Given the description of an element on the screen output the (x, y) to click on. 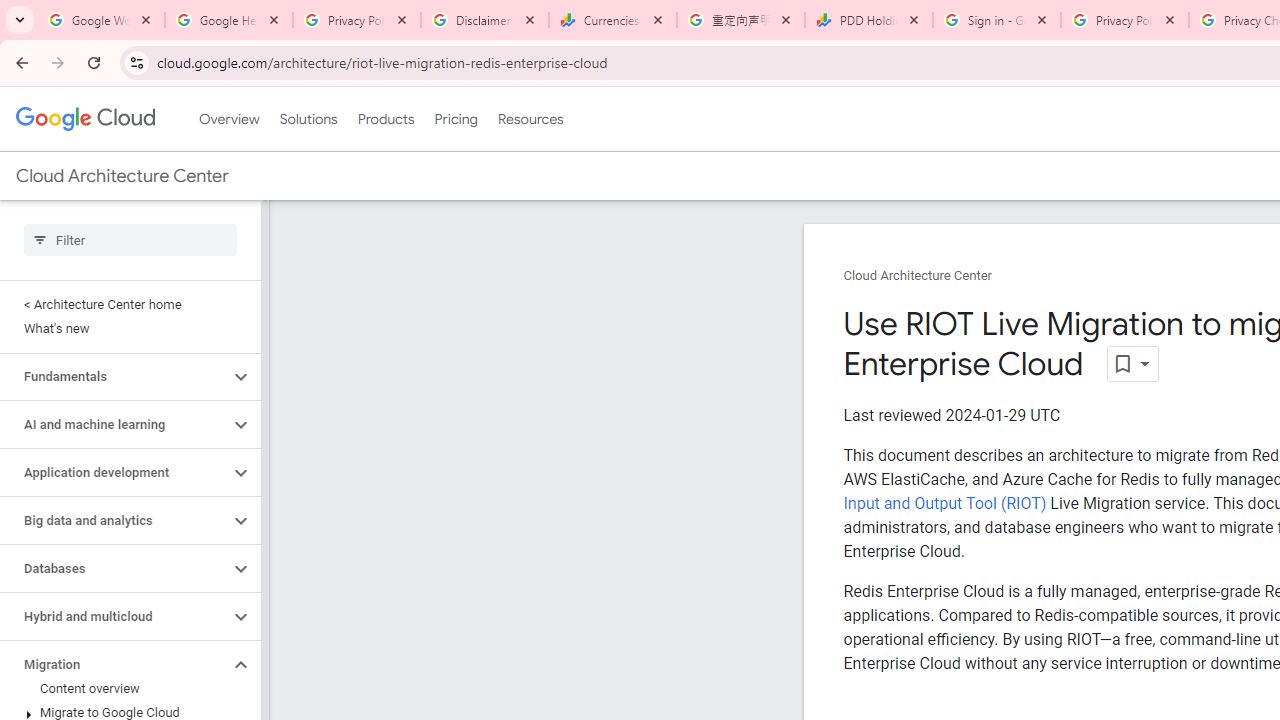
Google Workspace Admin Community (101, 20)
Products (385, 119)
Currencies - Google Finance (613, 20)
Cloud Architecture Center (917, 276)
